Given the description of an element on the screen output the (x, y) to click on. 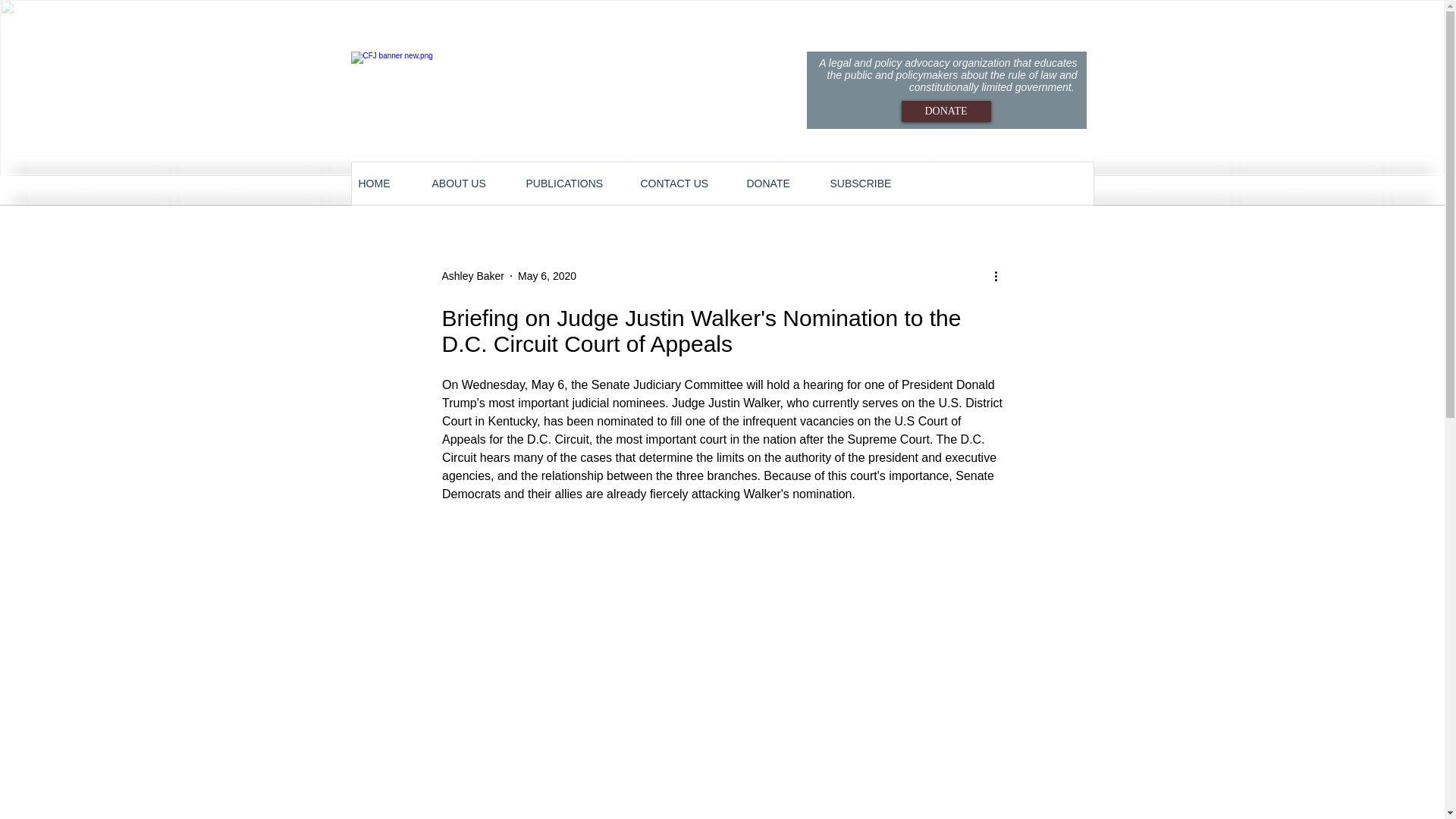
Ashley Baker (472, 276)
HOME (386, 183)
DONATE (780, 183)
May 6, 2020 (547, 275)
DONATE (945, 111)
SUBSCRIBE (870, 183)
